Given the description of an element on the screen output the (x, y) to click on. 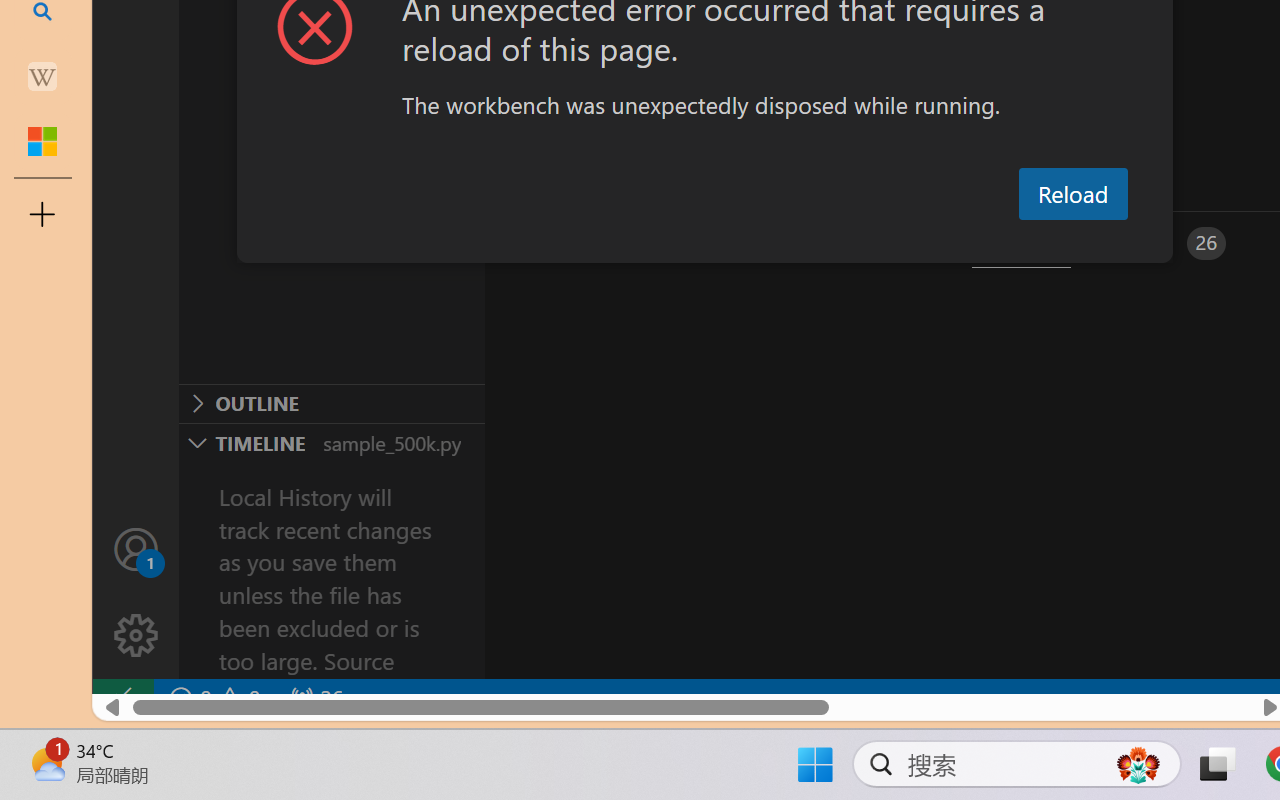
Reload (1071, 193)
Accounts - Sign in requested (135, 548)
Outline Section (331, 403)
Debug Console (Ctrl+Shift+Y) (854, 243)
No Problems (212, 698)
Problems (Ctrl+Shift+M) (567, 243)
Timeline Section (331, 442)
Terminal (Ctrl+`) (1021, 243)
